Given the description of an element on the screen output the (x, y) to click on. 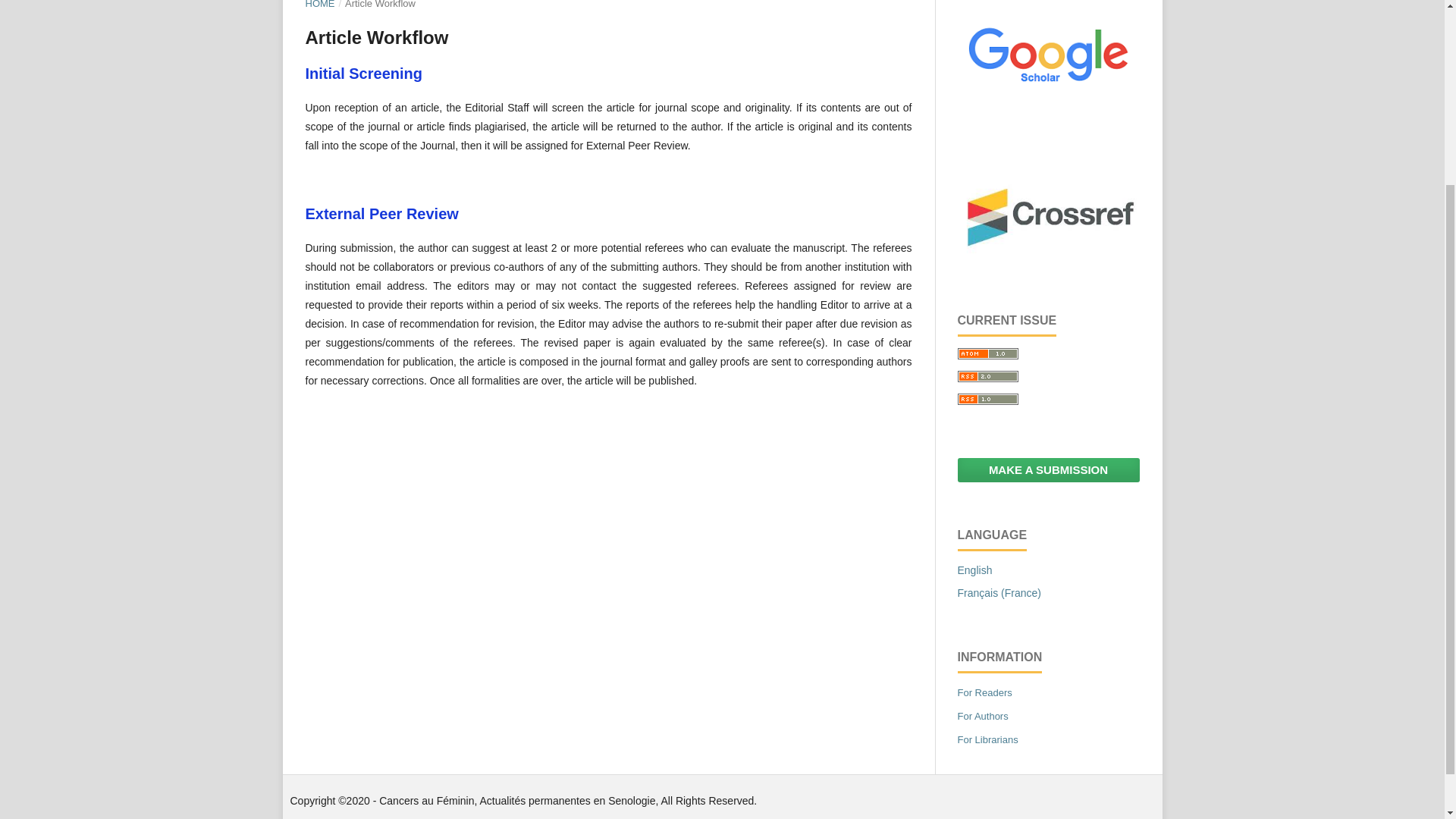
For Librarians (986, 739)
MAKE A SUBMISSION (1047, 469)
For Authors (981, 715)
HOME (319, 5)
English (973, 570)
For Readers (983, 692)
